Given the description of an element on the screen output the (x, y) to click on. 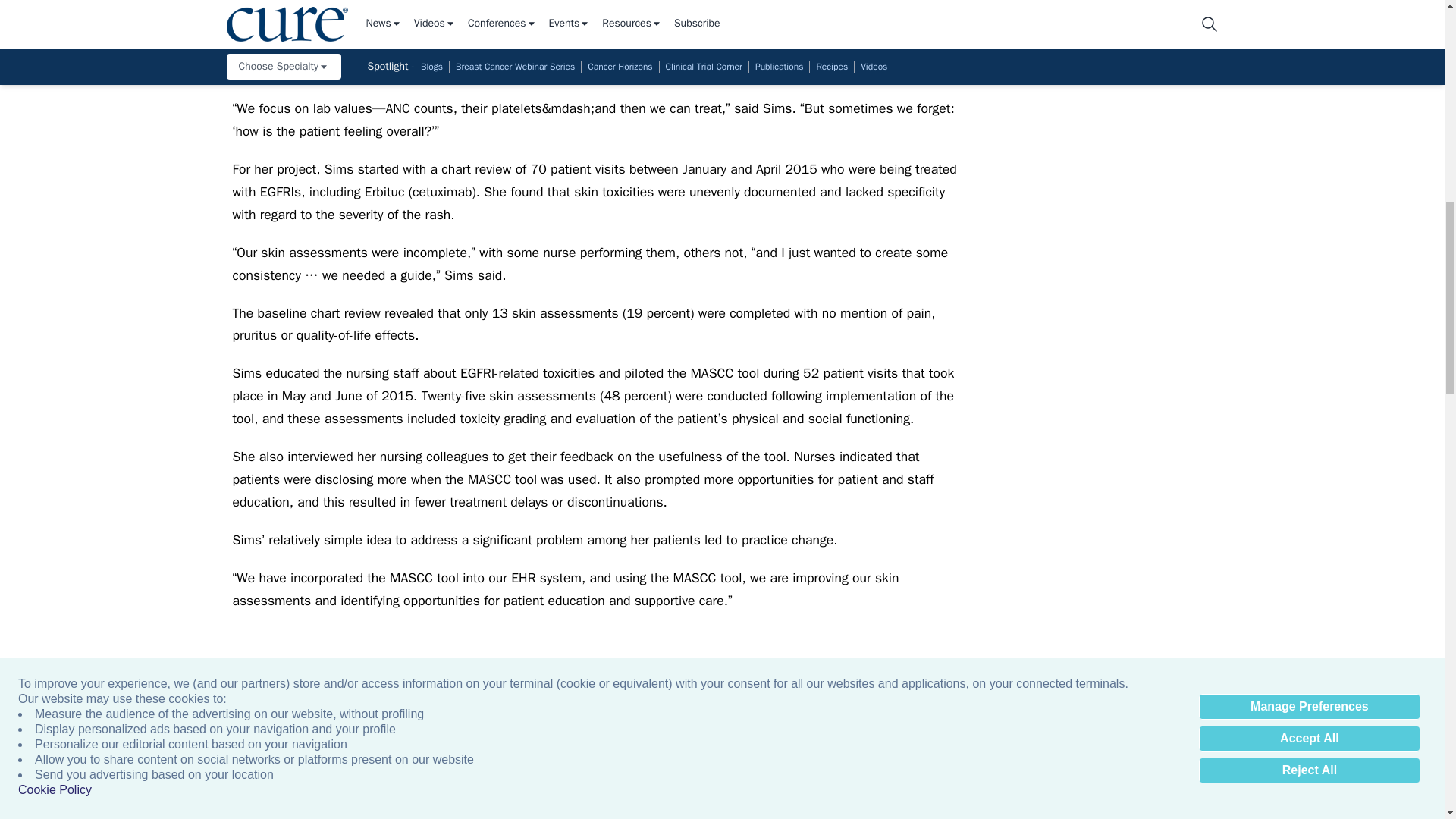
Dr. Anna C. Pavlick (999, 780)
Lorenzo G. Cohen (1163, 780)
Image of a woman with blond hai (343, 780)
Dr. Manisha Thakuria in an interview with CURE (507, 780)
Dr. Beth Goldstein in an interview with CURE  (671, 780)
Treating Skin Cancer Panel (835, 780)
Dr. Jedd D. Wolchok (1326, 780)
